Given the description of an element on the screen output the (x, y) to click on. 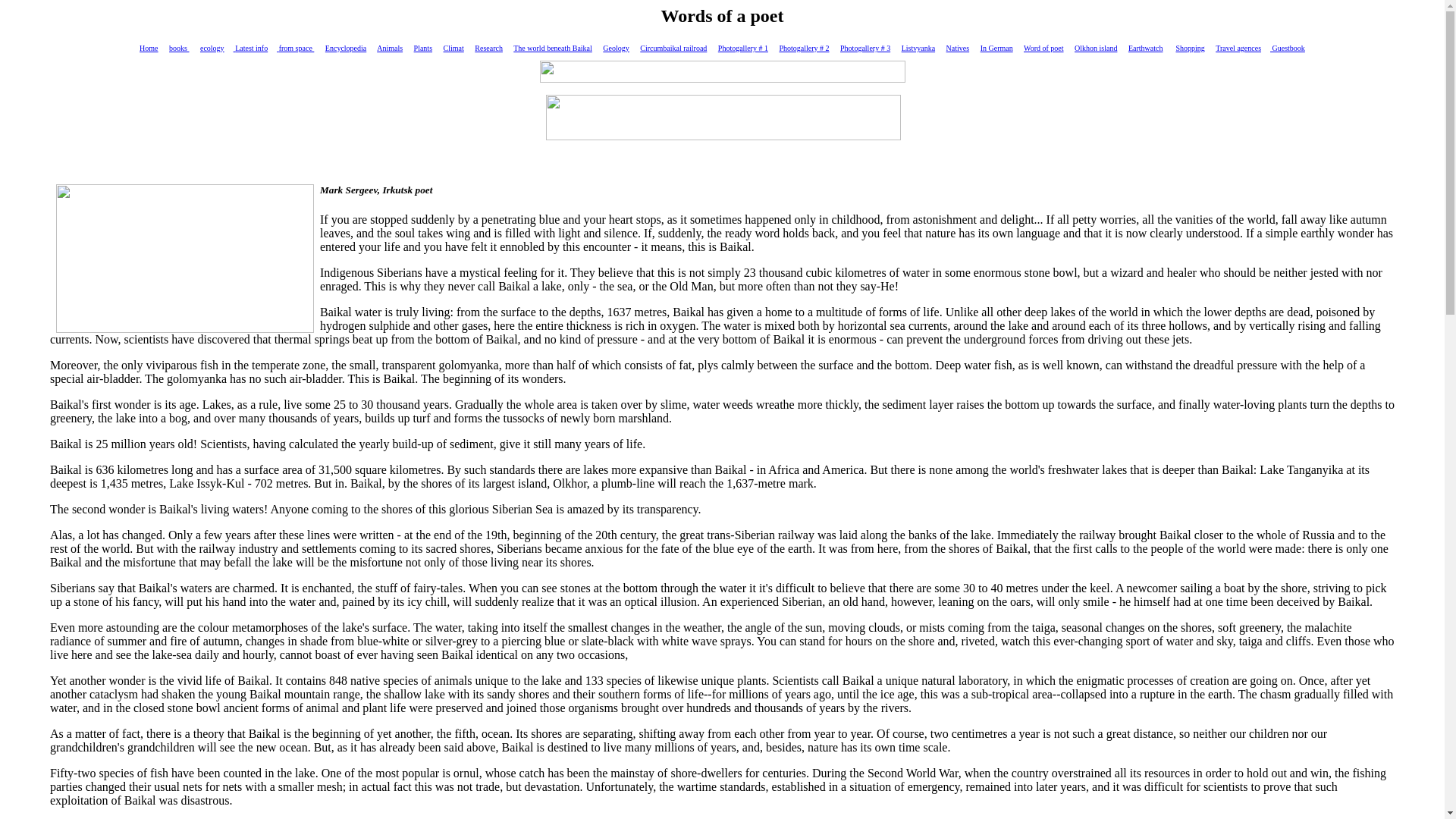
Encyclopedia (345, 48)
Olkhon island (1095, 48)
Latest info (250, 48)
books (178, 48)
Shopping (1189, 48)
Earthwatch (1145, 48)
from space (295, 48)
Listvyanka (917, 48)
Climat (454, 48)
Animals (390, 48)
ecology (217, 48)
Word of poet (1043, 48)
Circumbaikal railroad (673, 48)
The world beneath Baikal (552, 48)
Research (488, 48)
